Given the description of an element on the screen output the (x, y) to click on. 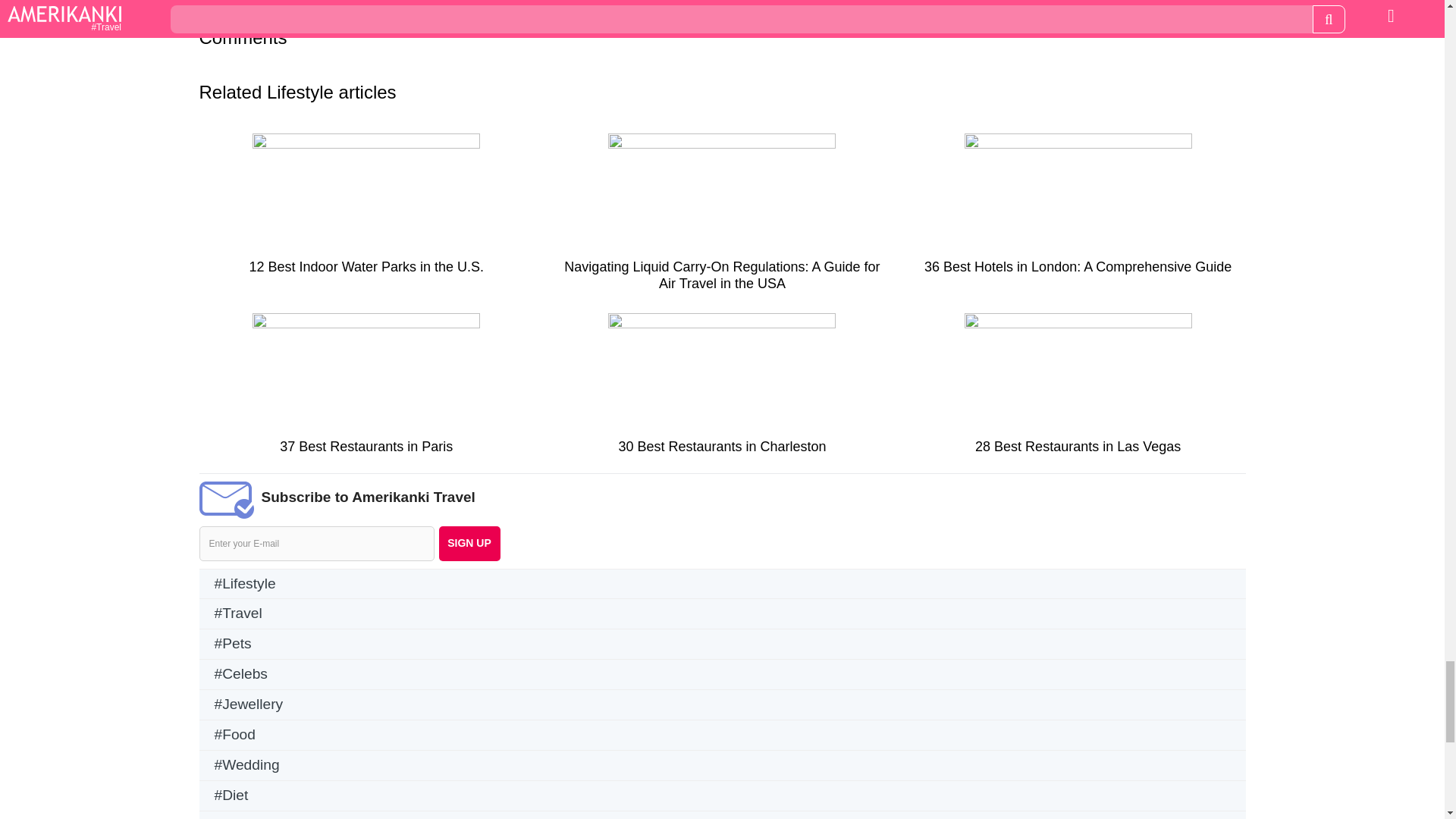
12 Best Indoor Water Parks in the U.S. (366, 210)
36 Best Hotels in London: A Comprehensive Guide (1078, 210)
37 Best Restaurants in Paris (366, 389)
